Given the description of an element on the screen output the (x, y) to click on. 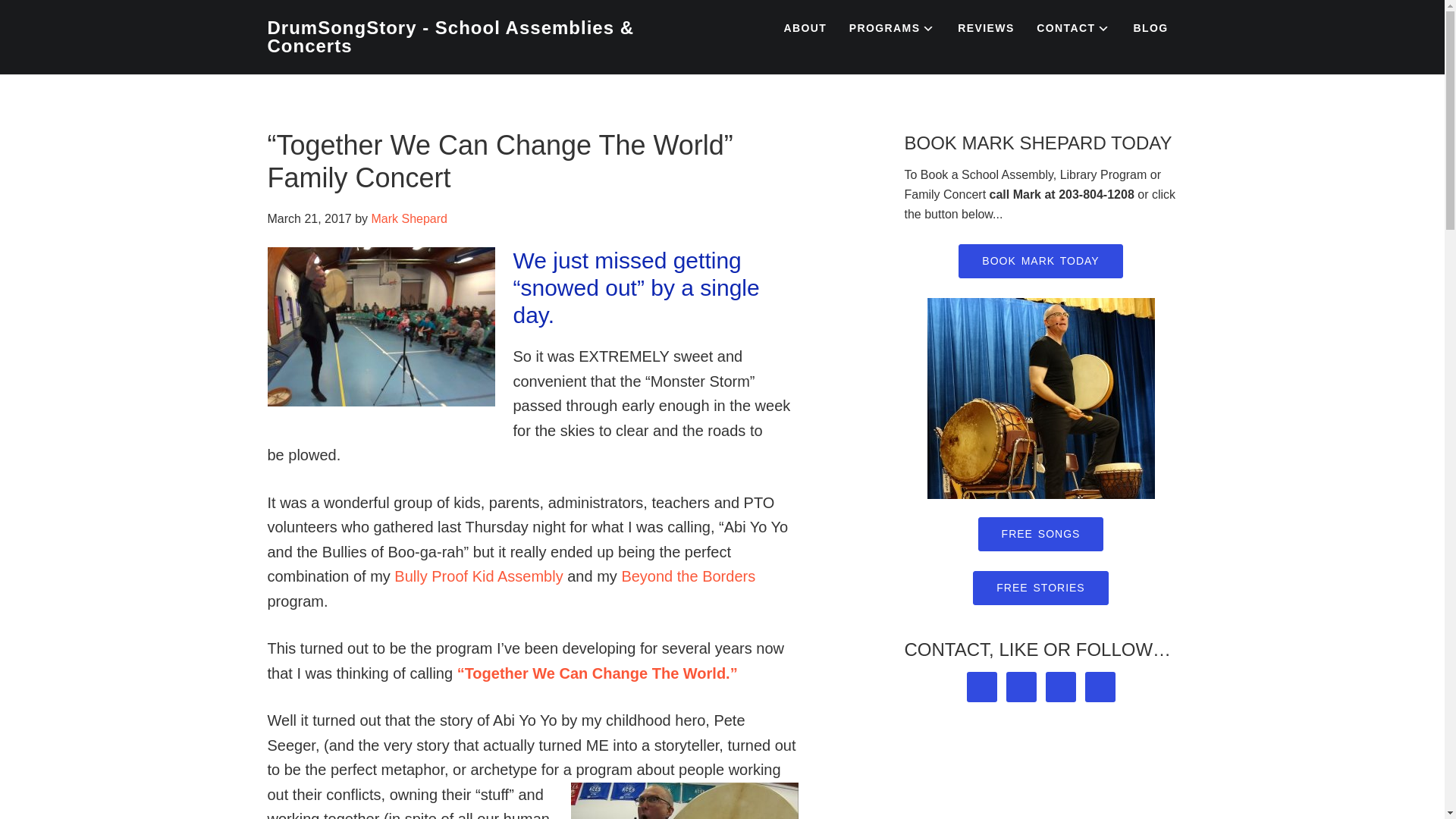
BLOG (1150, 28)
REVIEWS (986, 28)
Beyond the Borders (688, 576)
Mark Shepard (408, 218)
ABOUT (804, 28)
PROGRAMS (892, 28)
CONTACT (1073, 28)
Bully Proof Kid Assembly (478, 576)
